Given the description of an element on the screen output the (x, y) to click on. 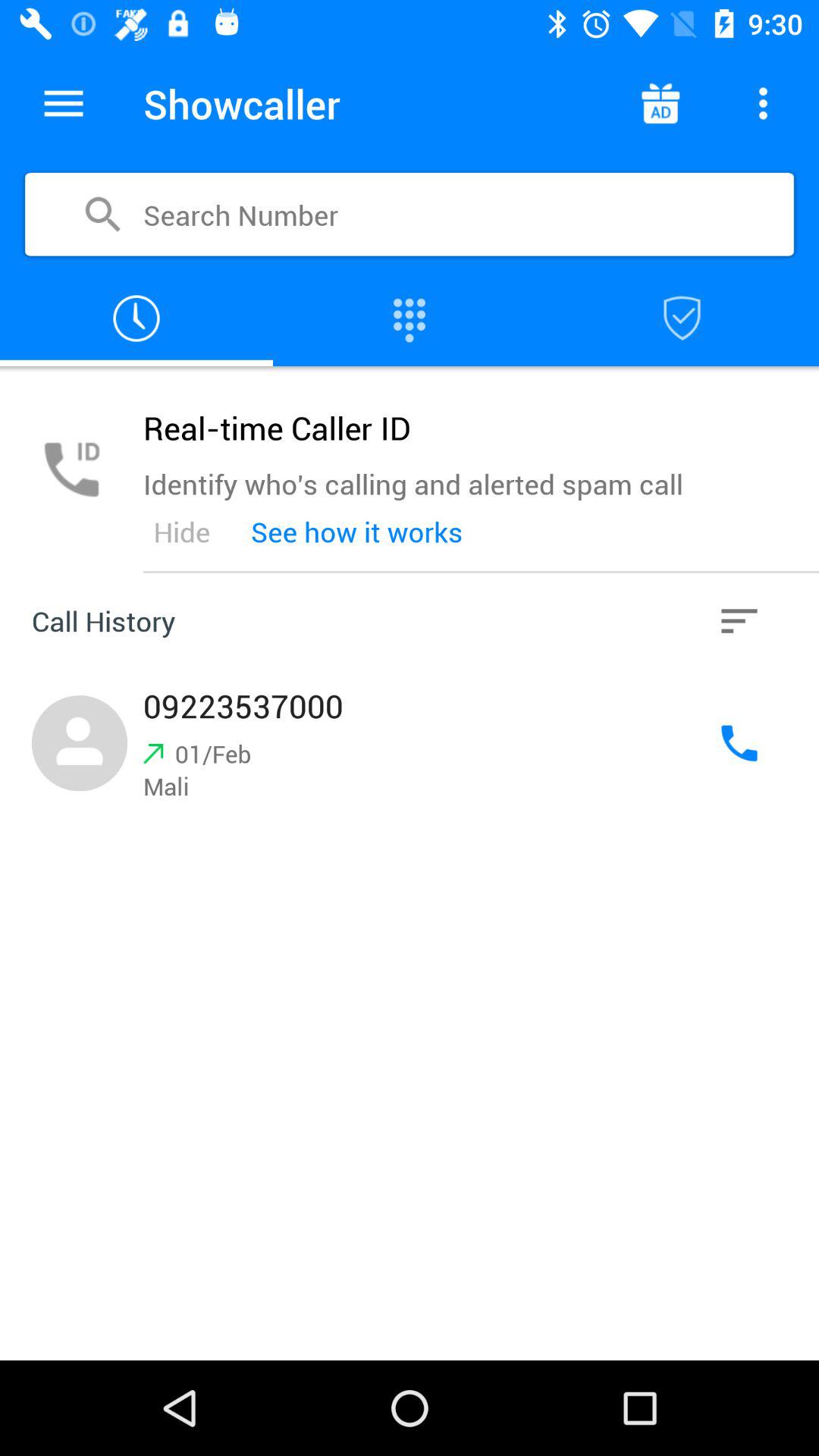
turn on the icon to the right of see how it icon (739, 620)
